Given the description of an element on the screen output the (x, y) to click on. 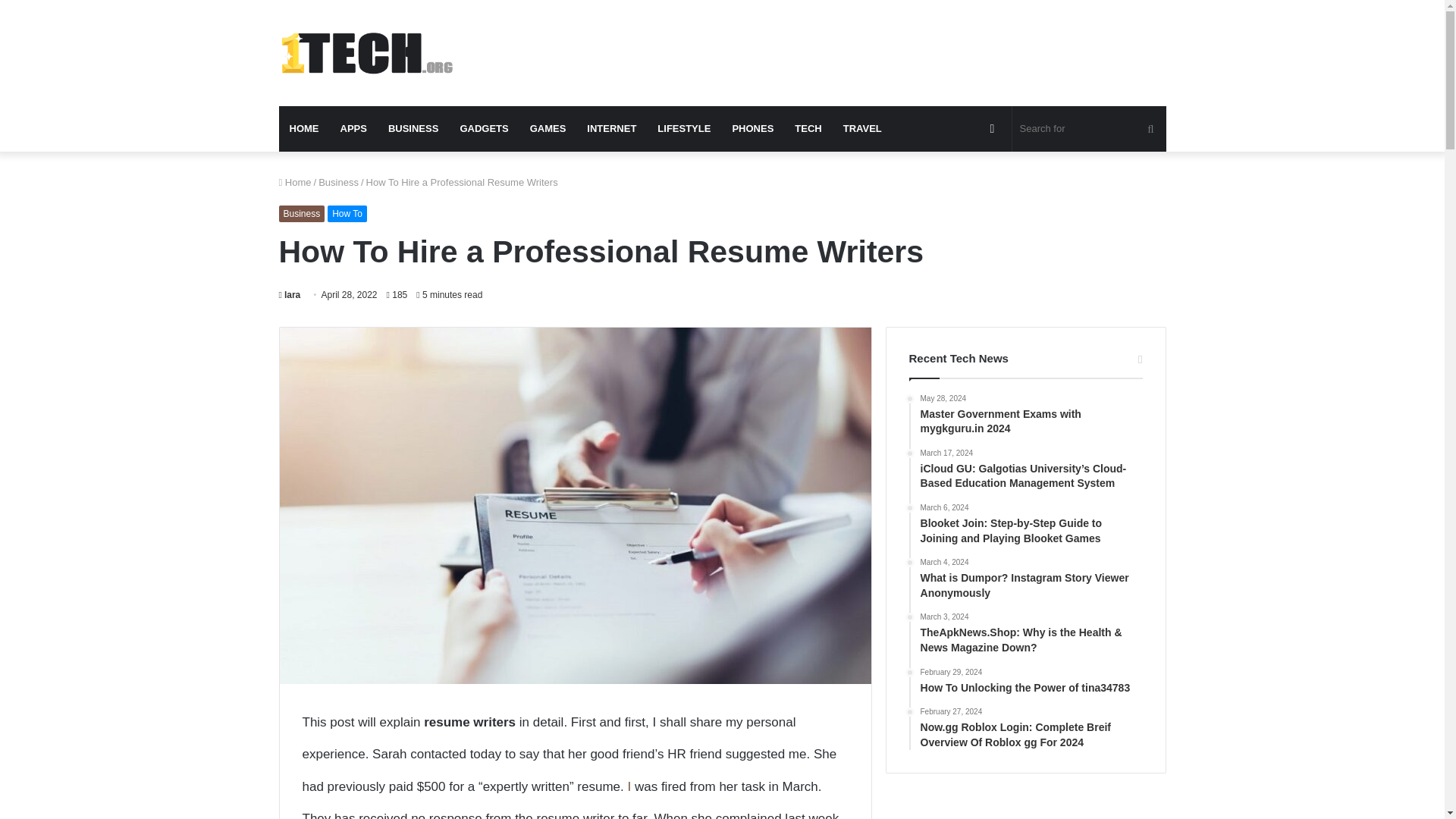
Search for (1088, 128)
APPS (353, 128)
Business (301, 213)
lara (290, 294)
GADGETS (483, 128)
PHONES (752, 128)
TECH (807, 128)
How To (346, 213)
LIFESTYLE (683, 128)
INTERNET (611, 128)
TRAVEL (862, 128)
Home (295, 182)
BUSINESS (412, 128)
Business (338, 182)
lara (290, 294)
